Given the description of an element on the screen output the (x, y) to click on. 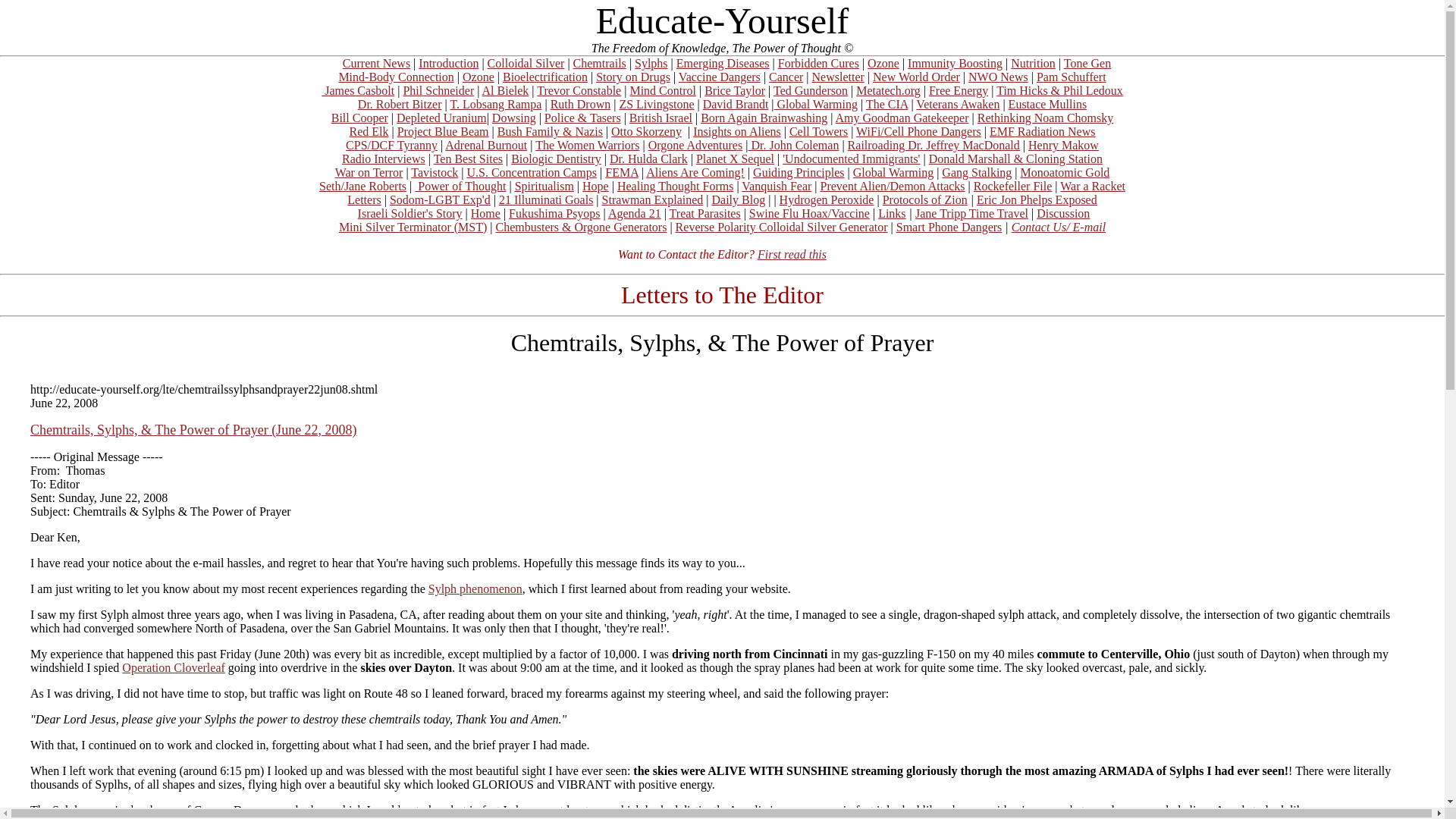
Emerging Diseases (723, 62)
Veterans Awaken (956, 103)
Sylphs (651, 62)
Global Warming (815, 103)
Trevor Constable (579, 90)
Phil Schneider (438, 90)
Story on Drugs (632, 76)
 James Casbolt (357, 90)
Nutrition (1032, 62)
Colloidal Silver (525, 62)
Pam Schuffert (1071, 76)
Newsletter (838, 76)
The CIA (887, 103)
NWO News (997, 76)
Free Energy (958, 90)
